Given the description of an element on the screen output the (x, y) to click on. 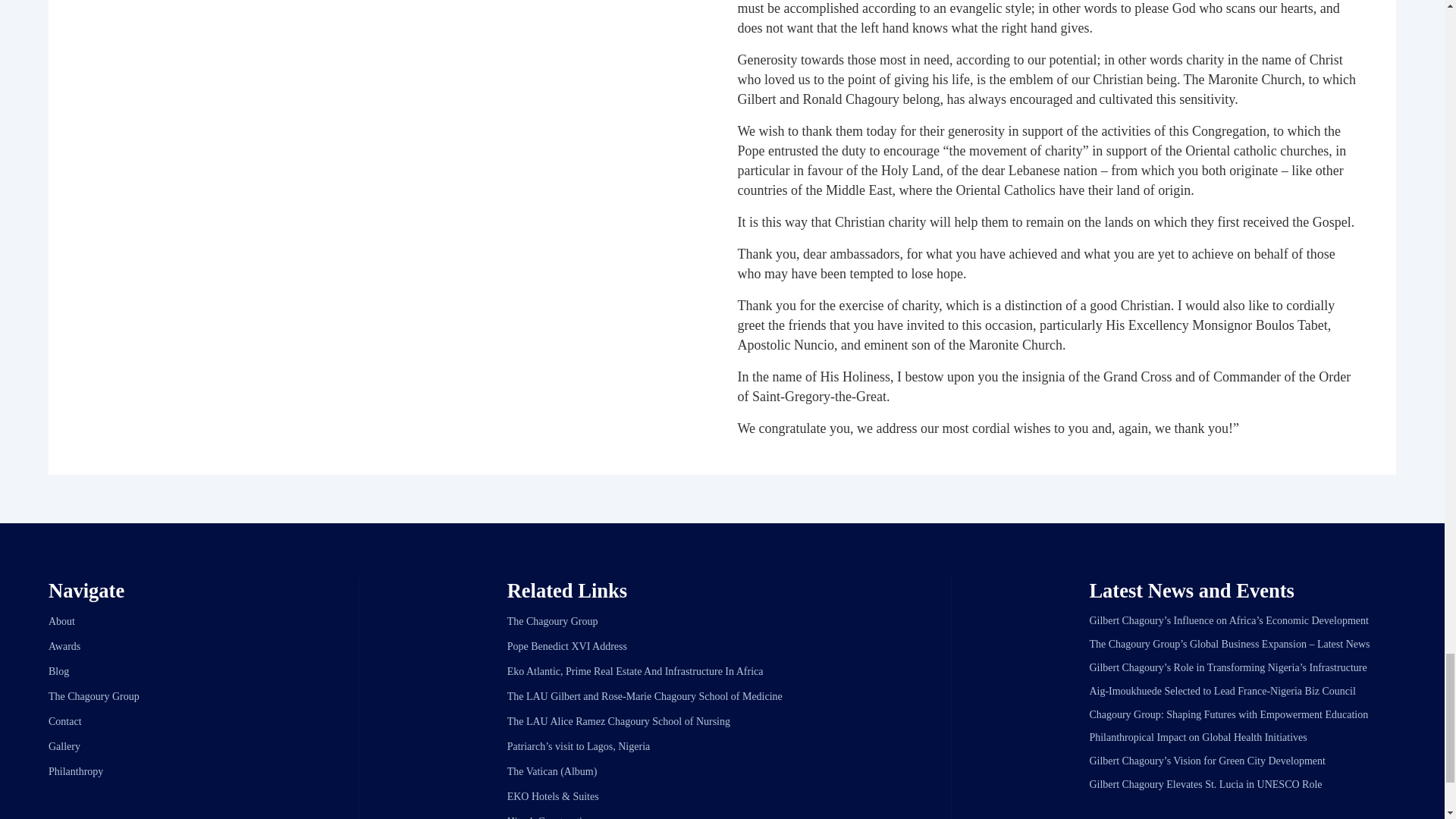
Awards (64, 645)
The Chagoury Group (552, 621)
About (61, 621)
Hitech Construction (549, 817)
Aig-Imoukhuede Selected to Lead France-Nigeria Biz Council (1222, 690)
Eko Atlantic, Prime Real Estate And Infrastructure In Africa (634, 671)
Philanthropical Impact on Global Health Initiatives (1197, 737)
Philanthropy (75, 771)
The Chagoury Group (93, 696)
Gallery (64, 746)
